Given the description of an element on the screen output the (x, y) to click on. 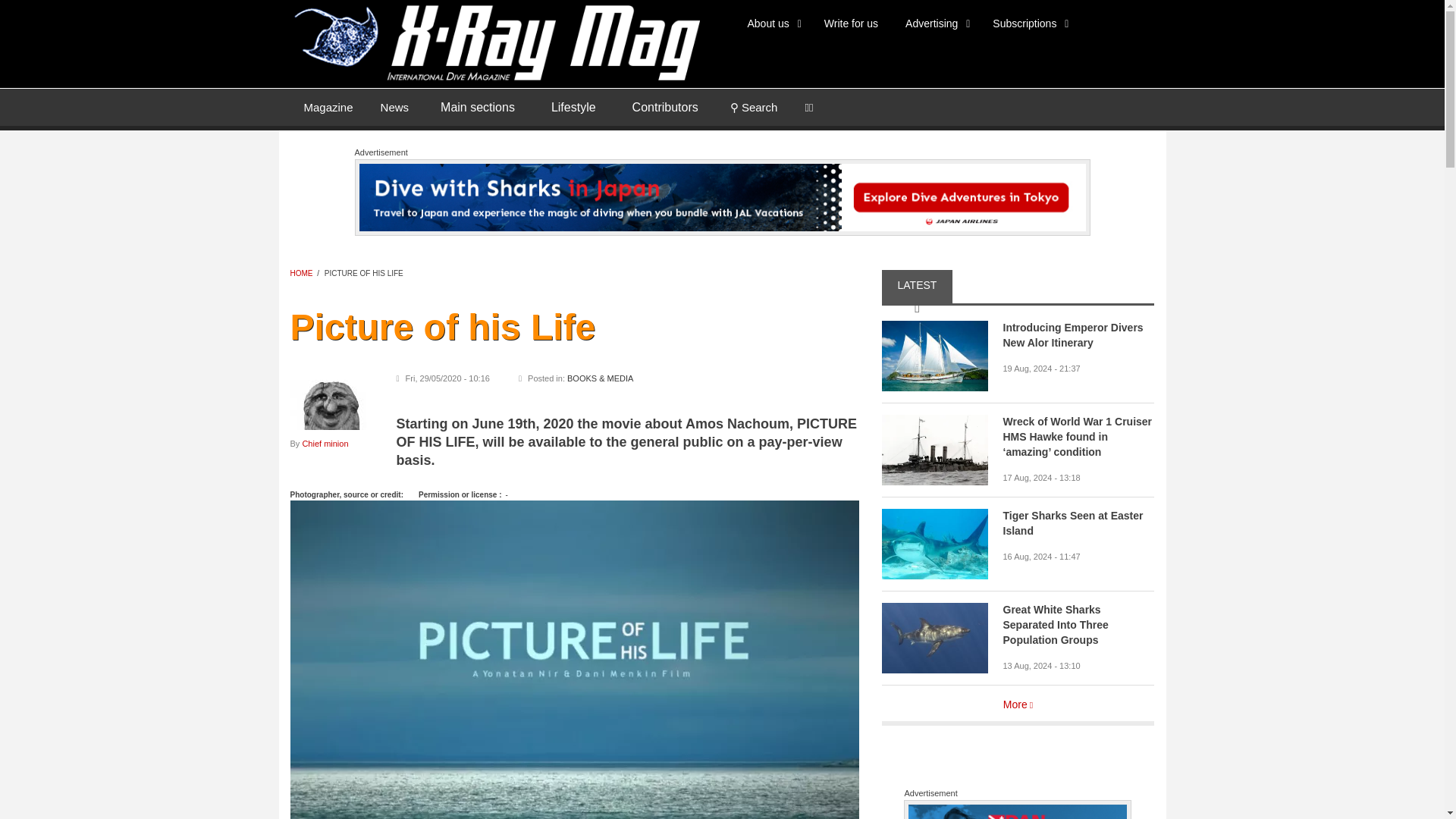
Write for us (850, 23)
Latest posts (394, 106)
About us (771, 23)
News (394, 106)
Subscriptions (1027, 23)
Advertising and promotions (934, 23)
Back issues (327, 106)
Main sections (477, 107)
Advertising (934, 23)
Home (493, 41)
